Given the description of an element on the screen output the (x, y) to click on. 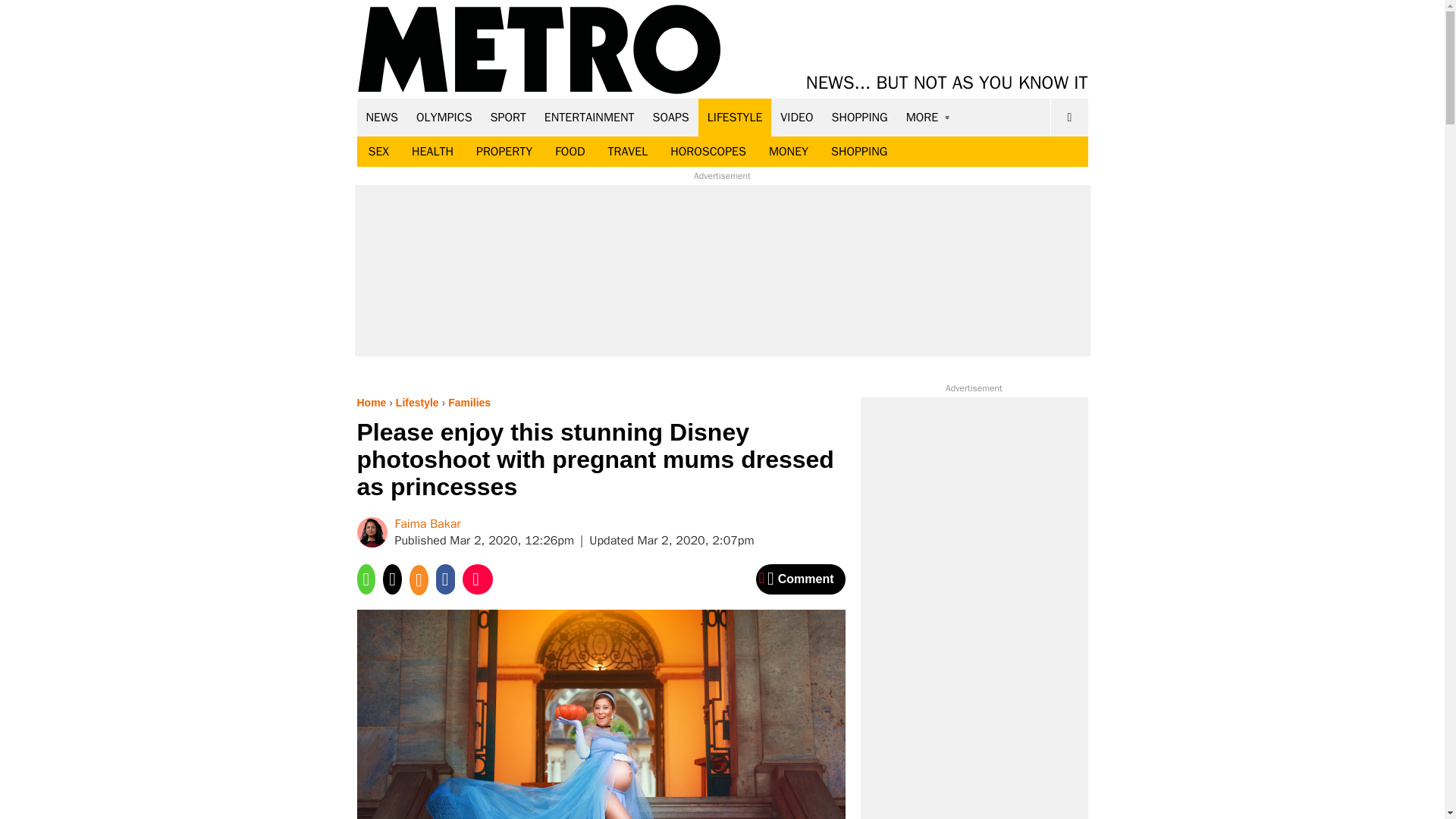
ENTERTAINMENT (589, 117)
SOAPS (670, 117)
NEWS (381, 117)
FOOD (569, 151)
SPORT (508, 117)
HEALTH (432, 151)
OLYMPICS (444, 117)
LIFESTYLE (734, 117)
Metro (539, 50)
SEX (377, 151)
